Given the description of an element on the screen output the (x, y) to click on. 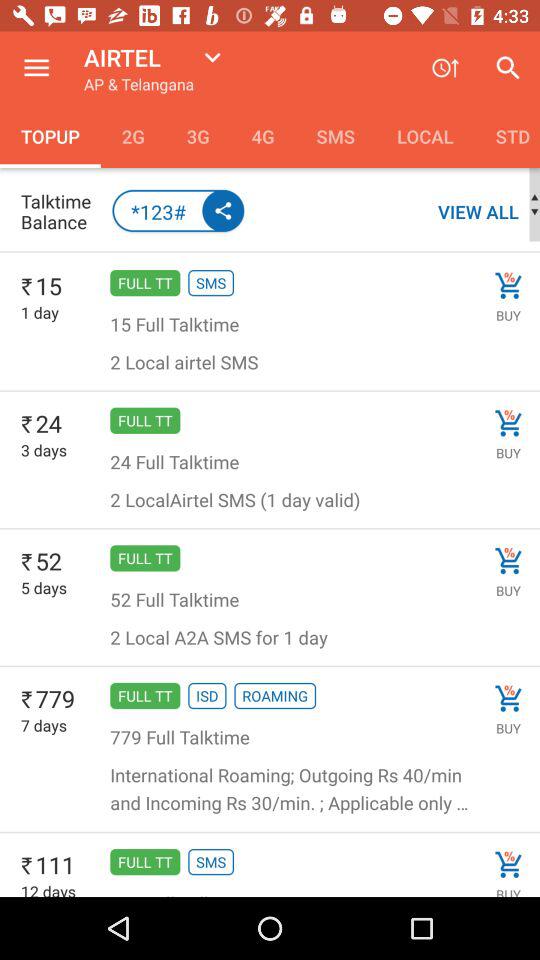
turn off the icon next to the topup item (132, 136)
